Given the description of an element on the screen output the (x, y) to click on. 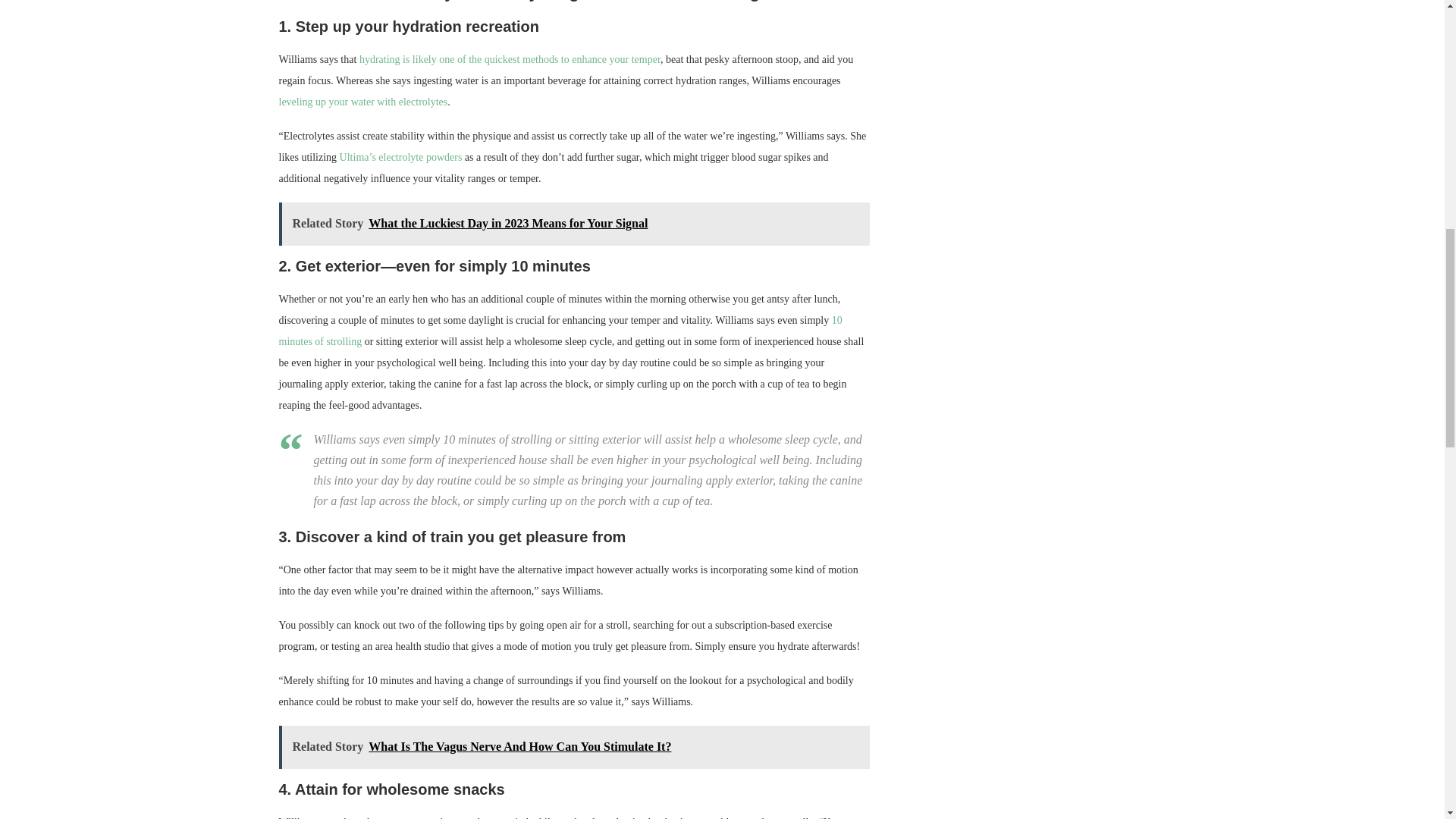
10 minutes of strolling (561, 330)
leveling up your water with electrolytes (363, 101)
